Given the description of an element on the screen output the (x, y) to click on. 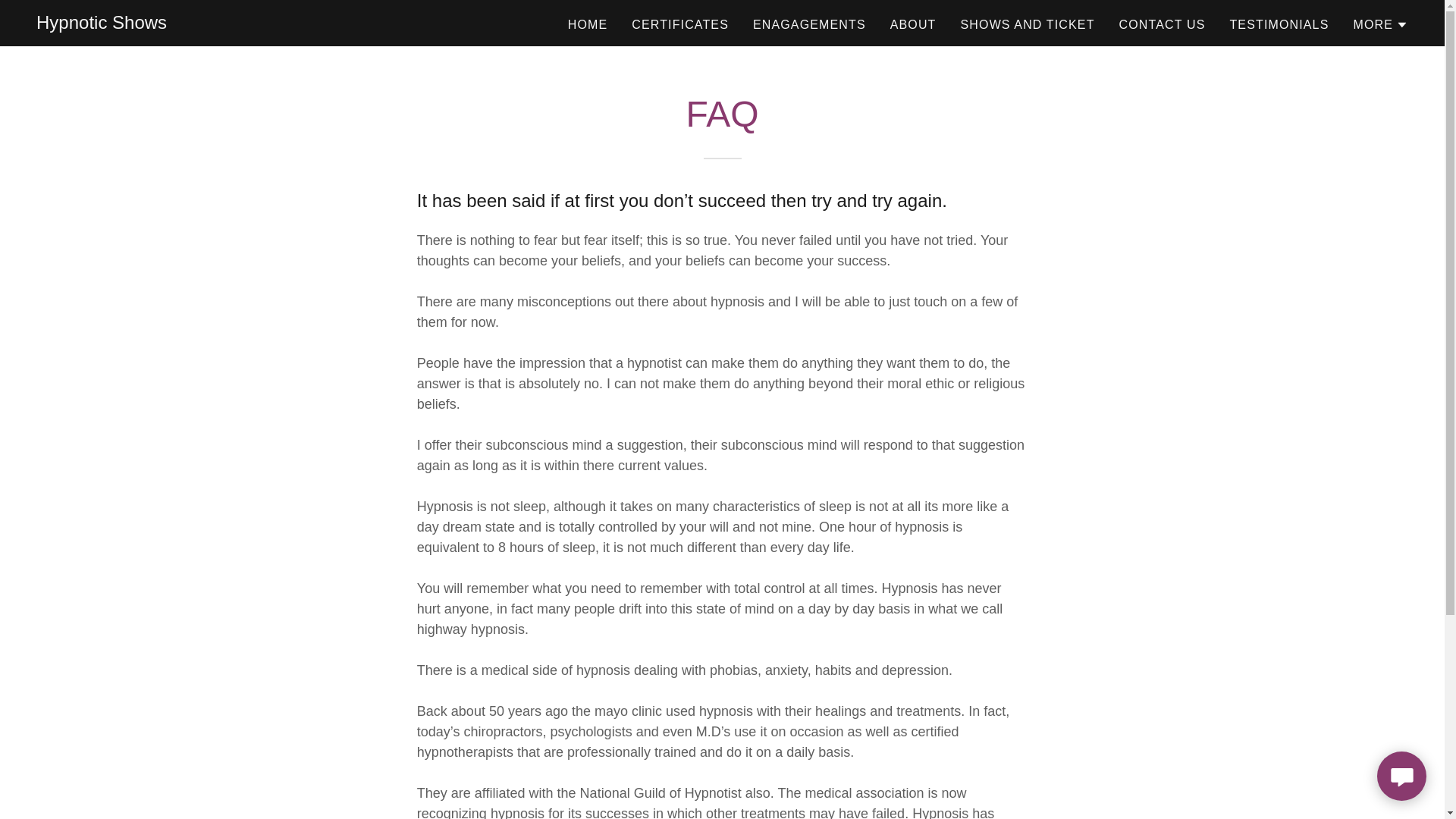
CONTACT US (1162, 24)
MORE (1379, 24)
Hypnotic Shows (101, 23)
ENAGAGEMENTS (809, 24)
Hypnotic Shows (101, 23)
SHOWS AND TICKET (1027, 24)
HOME (587, 24)
CERTIFICATES (680, 24)
ABOUT (912, 24)
TESTIMONIALS (1278, 24)
